Given the description of an element on the screen output the (x, y) to click on. 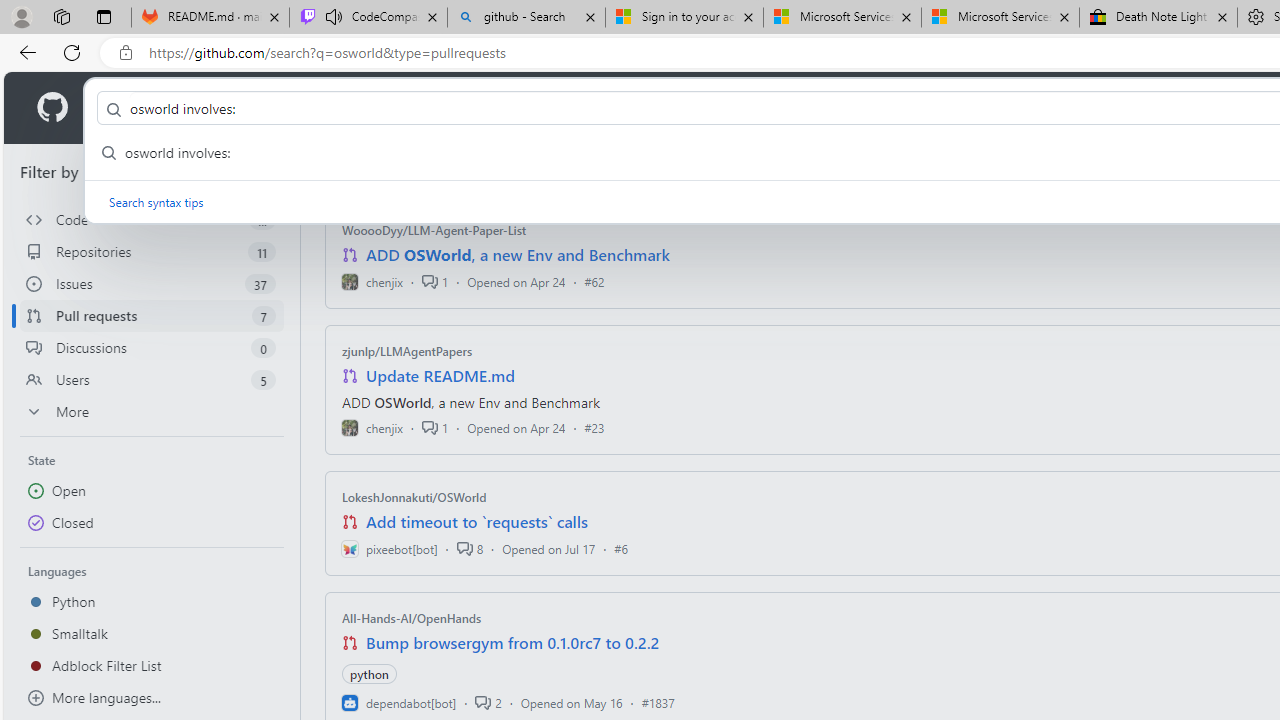
More languages... (152, 697)
#6 (621, 548)
Product (130, 107)
Product (130, 107)
zjunlp/LLMAgentPapers (407, 351)
Update README.md (440, 376)
#6 (621, 548)
Enterprise (563, 107)
